Given the description of an element on the screen output the (x, y) to click on. 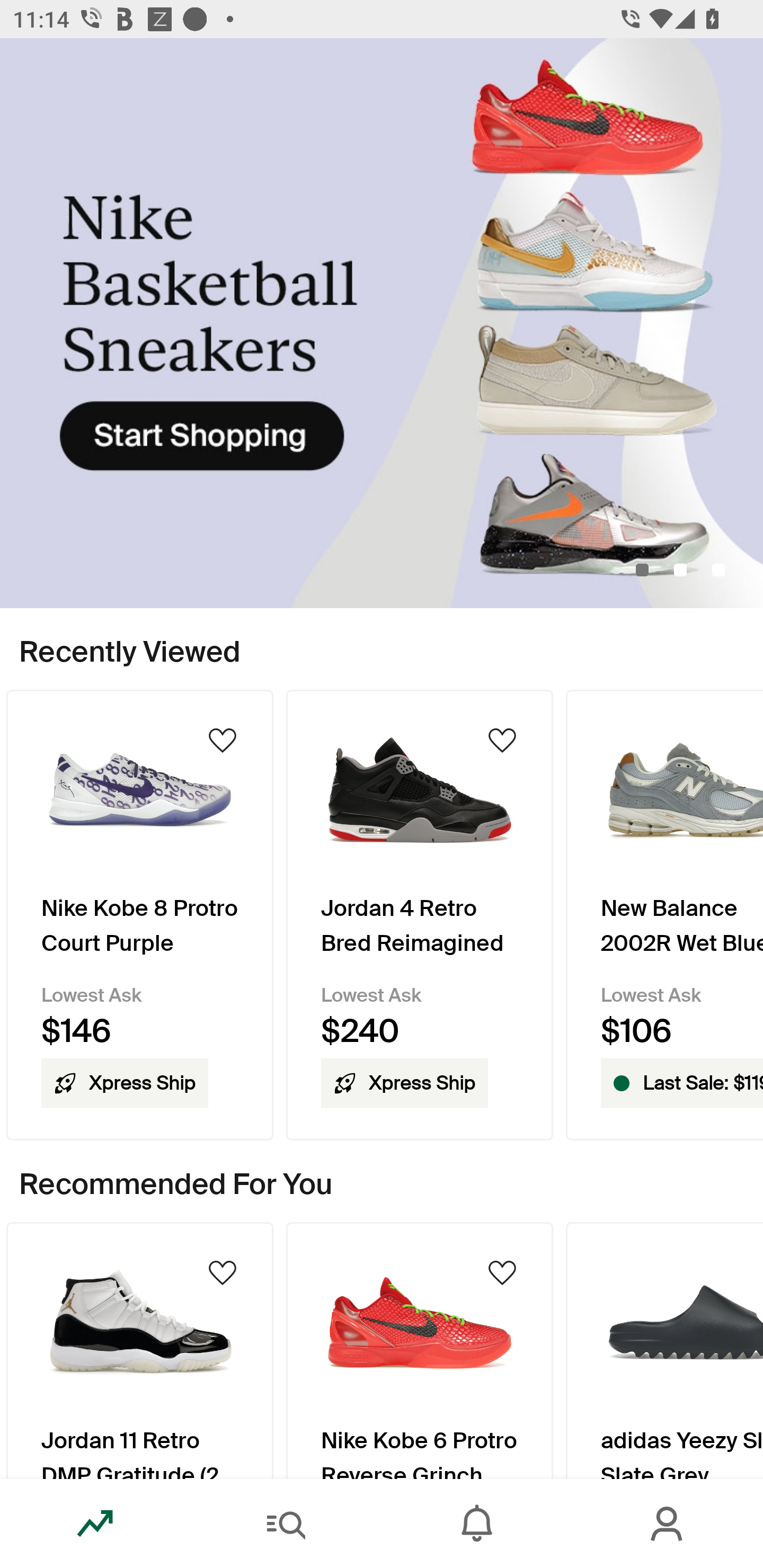
NikeBasketballSprint_Followup_Primary_Mobile.jpg (381, 322)
Product Image Jordan 11 Retro DMP Gratitude (2023) (139, 1349)
Product Image Nike Kobe 6 Protro Reverse Grinch (419, 1349)
Product Image adidas Yeezy Slide Slate Grey (664, 1349)
Search (285, 1523)
Inbox (476, 1523)
Account (667, 1523)
